Given the description of an element on the screen output the (x, y) to click on. 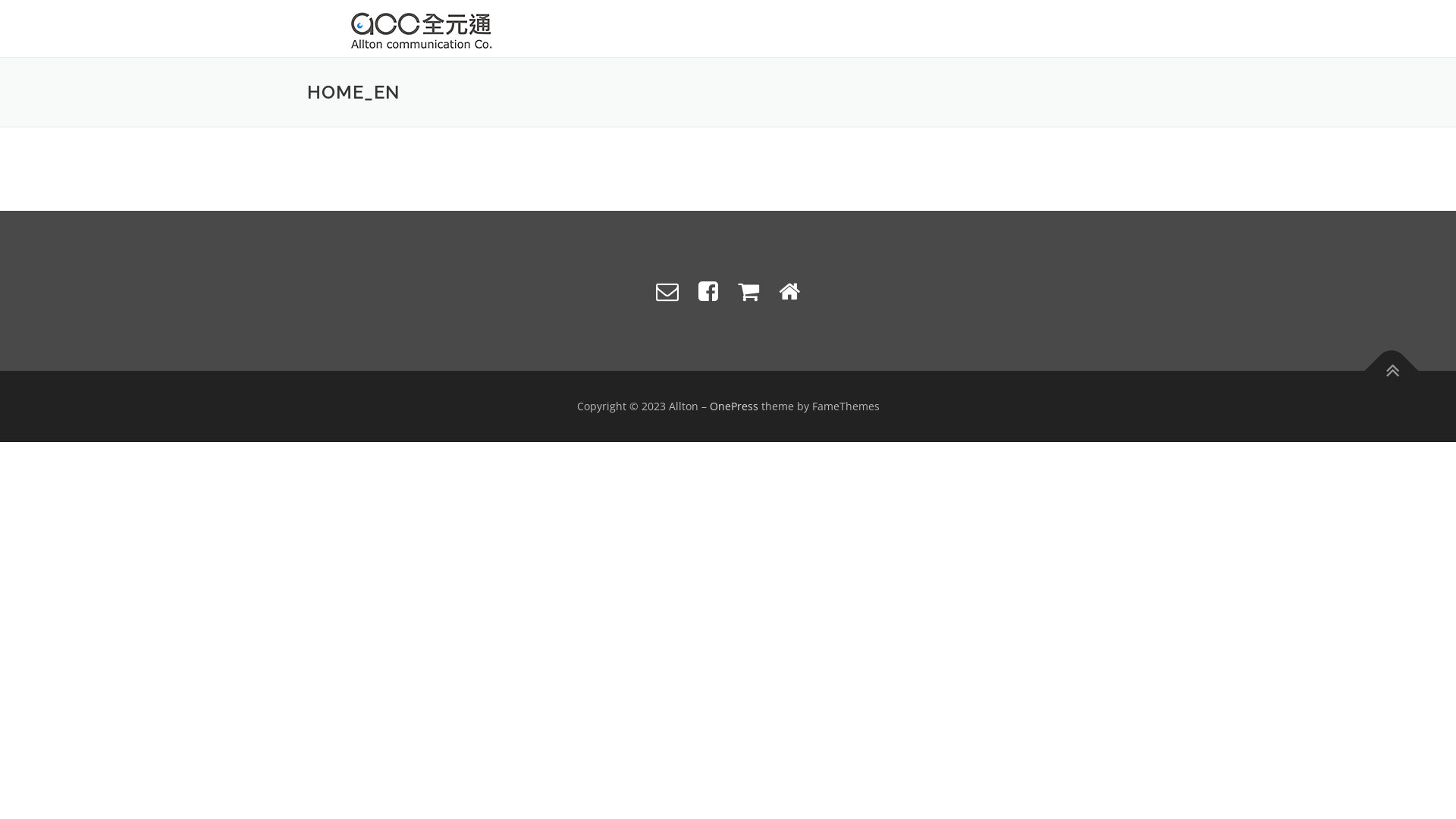
Back To Top Element type: hover (1383, 363)
email Element type: hover (666, 290)
OnePress Element type: text (733, 405)
FB Element type: hover (708, 290)
